Given the description of an element on the screen output the (x, y) to click on. 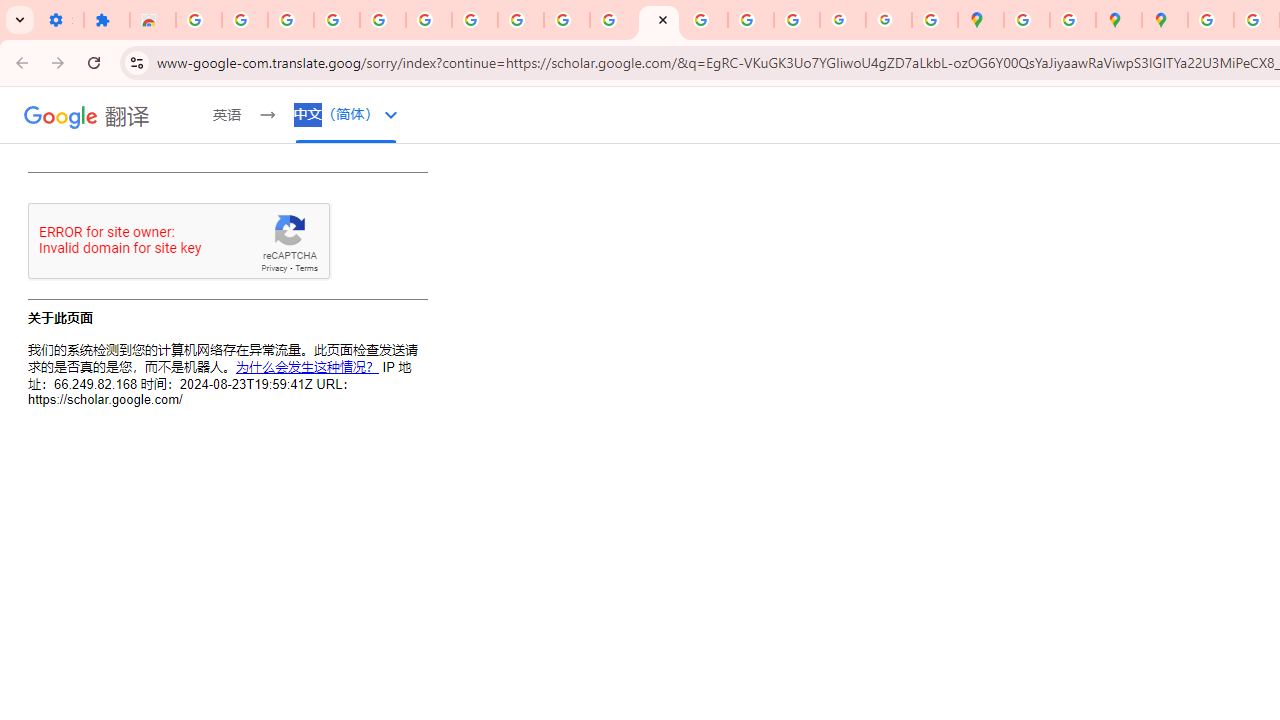
Sign in - Google Accounts (198, 20)
Settings - On startup (60, 20)
https://scholar.google.com/ (659, 20)
